Given the description of an element on the screen output the (x, y) to click on. 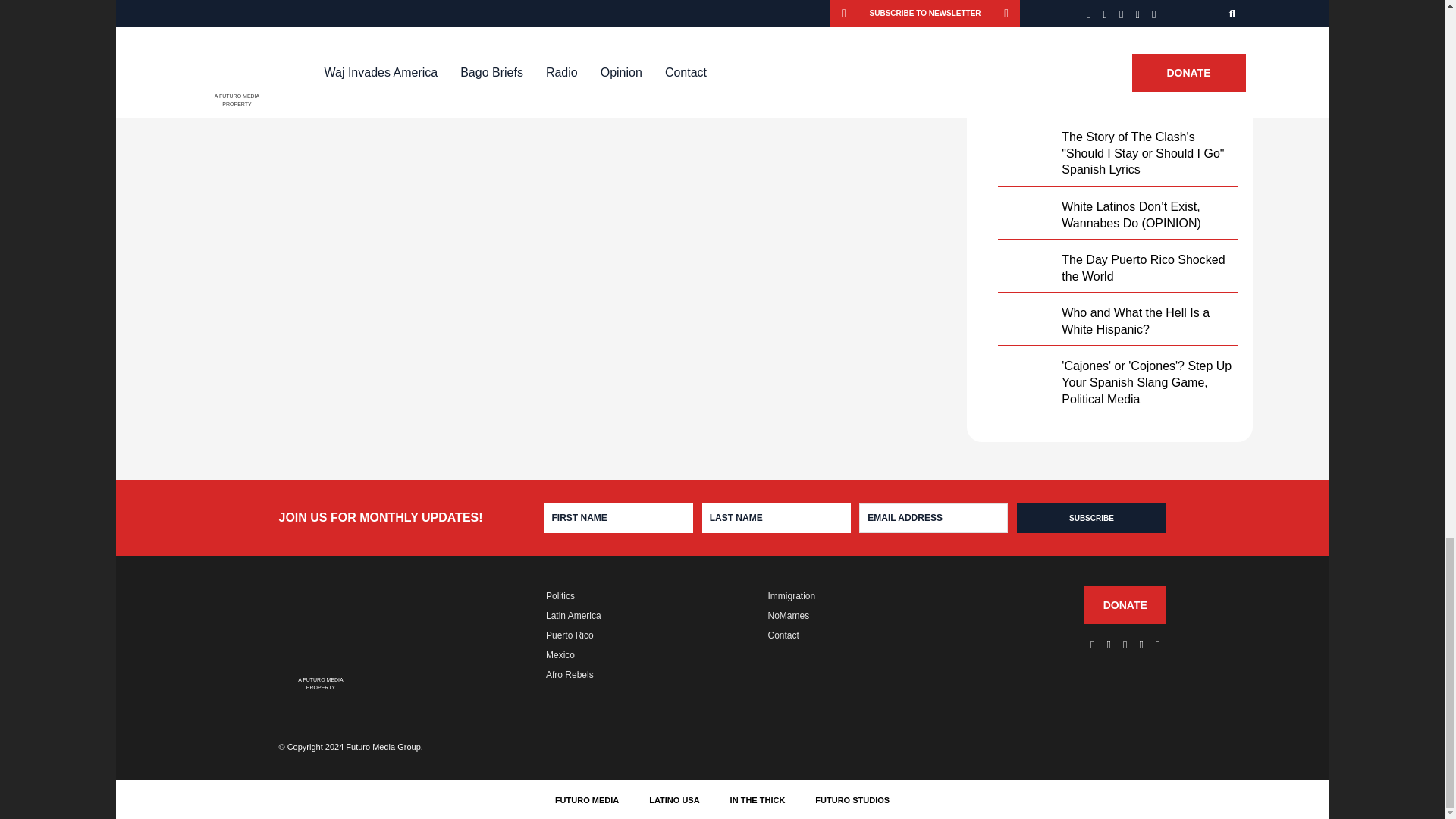
Subscribe (1091, 517)
